Given the description of an element on the screen output the (x, y) to click on. 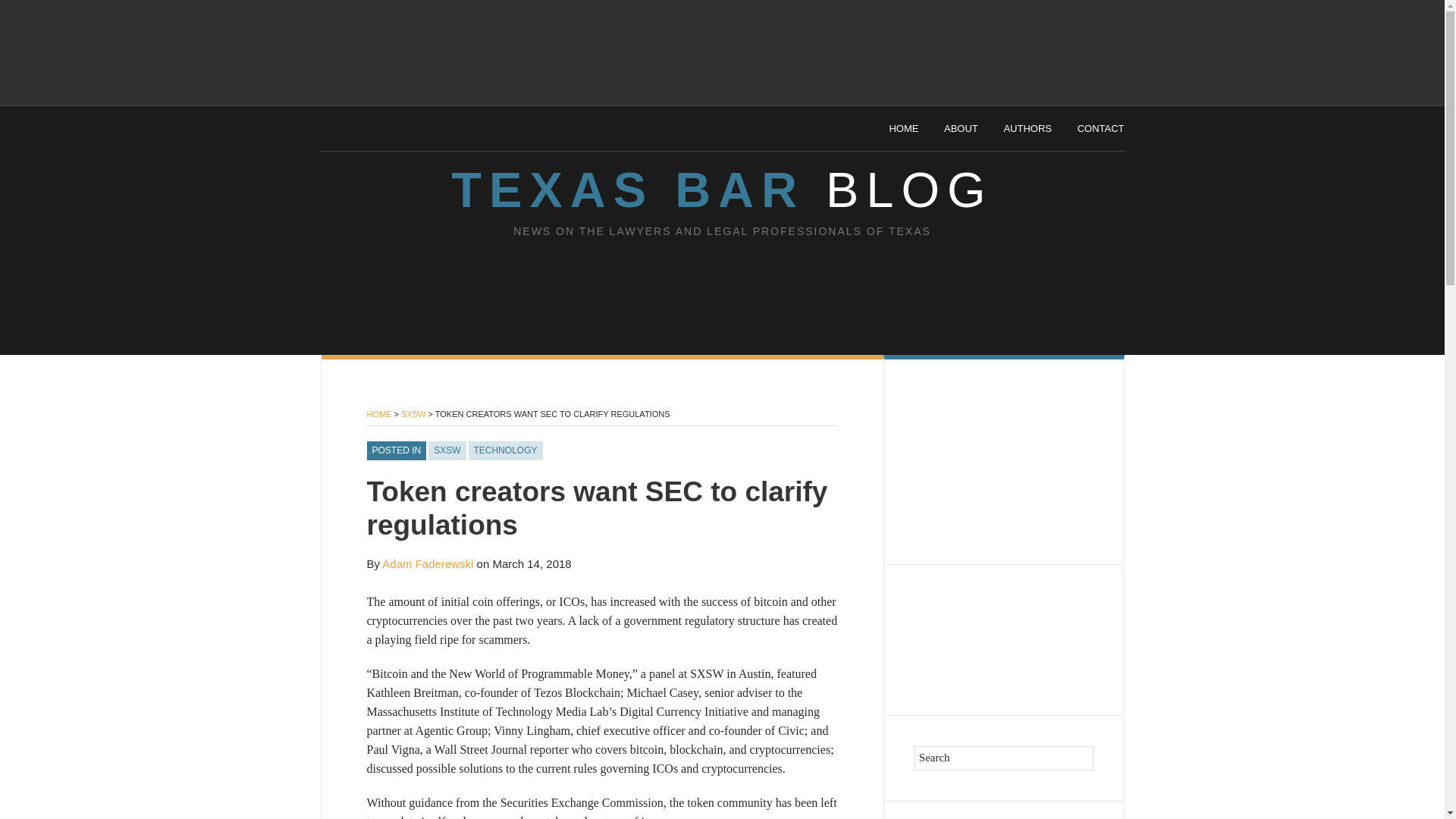
TEXAS BAR JOURNAL (1003, 658)
State Bar of Texas (406, 126)
Search (1003, 758)
Go (1070, 757)
TEXAS BAR BLOG (721, 189)
HOME (378, 413)
HOME (903, 128)
Adam Faderewski (427, 563)
CONTACT (1100, 128)
SXSW (413, 413)
ABOUT (960, 128)
Go (1070, 757)
TEXASBAR.COM (1003, 613)
SXSW (446, 451)
AUTHORS (1027, 128)
